Given the description of an element on the screen output the (x, y) to click on. 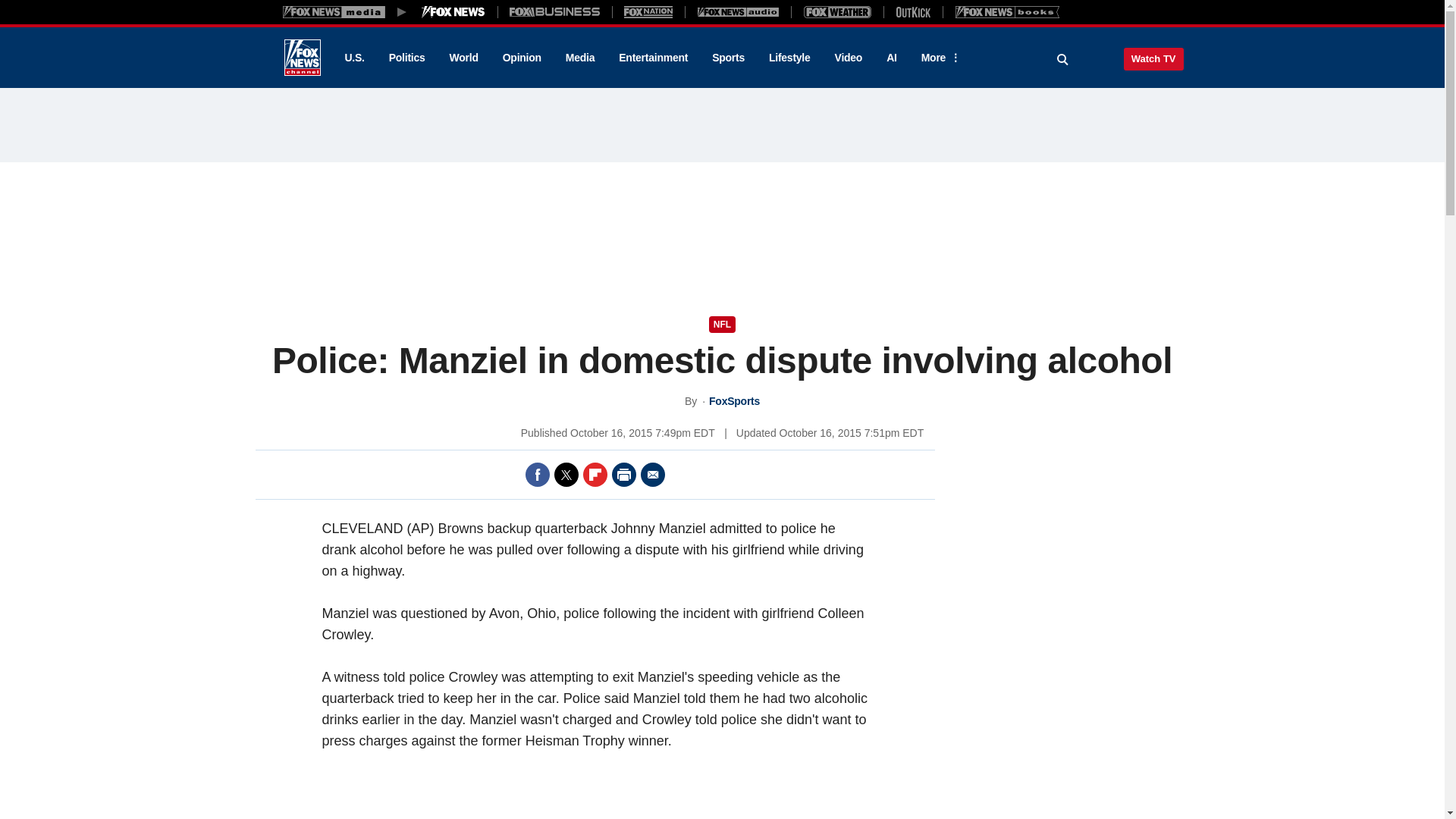
Watch TV (1153, 58)
Lifestyle (789, 57)
Media (580, 57)
Fox Business (554, 11)
Fox Weather (836, 11)
Books (1007, 11)
Outkick (912, 11)
Sports (728, 57)
Fox News Audio (737, 11)
More (938, 57)
